Given the description of an element on the screen output the (x, y) to click on. 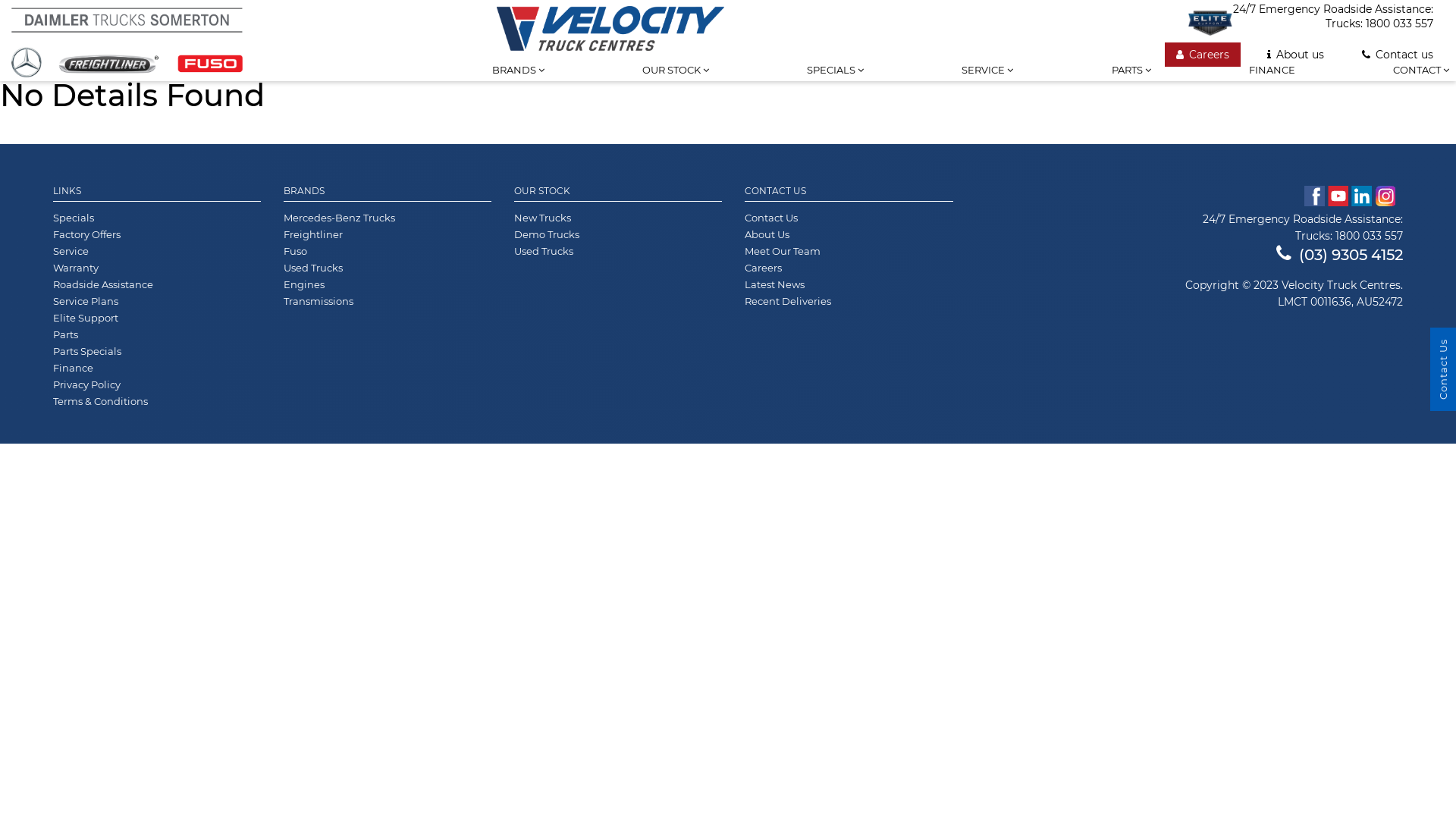
OUR STOCK Element type: text (675, 80)
Latest News Element type: text (774, 287)
Elite Support Element type: hover (1210, 22)
Service Plans Element type: text (85, 303)
Parts Element type: text (65, 337)
OUR STOCK Element type: text (617, 193)
Privacy Policy Element type: text (86, 387)
BRANDS Element type: text (387, 193)
PARTS Element type: text (1131, 80)
Specials Element type: text (73, 220)
LINKS Element type: text (156, 193)
Used Trucks Element type: text (543, 253)
1800 033 557 Element type: text (1399, 23)
SERVICE Element type: text (987, 80)
Transmissions Element type: text (318, 303)
Used Trucks Element type: text (312, 270)
SPECIALS Element type: text (834, 80)
Mercedes-Benz Trucks Element type: text (339, 220)
1800 033 557 Element type: text (1368, 235)
Meet Our Team Element type: text (782, 253)
Careers Element type: text (762, 270)
Demo Trucks Element type: text (546, 237)
About Us Element type: text (766, 237)
New Trucks Element type: text (542, 220)
Freightliner Element type: text (312, 237)
CONTACT US Element type: text (848, 193)
Contact Us Element type: text (770, 220)
Contact us Element type: text (1397, 54)
Recent Deliveries Element type: text (787, 303)
Warranty Element type: text (75, 270)
Fuso Element type: text (295, 253)
Roadside Assistance Element type: text (103, 287)
(03) 9305 4152 Element type: text (1339, 254)
Engines Element type: text (303, 287)
Careers Element type: text (1202, 54)
Finance Element type: text (73, 370)
About us Element type: text (1295, 54)
CONTACT Element type: text (1421, 80)
Service Element type: text (70, 253)
Parts Specials Element type: text (87, 354)
Elite Support Element type: text (85, 320)
Factory Offers Element type: text (86, 237)
BRANDS Element type: text (518, 80)
Terms & Conditions Element type: text (100, 404)
FINANCE Element type: text (1271, 80)
